Given the description of an element on the screen output the (x, y) to click on. 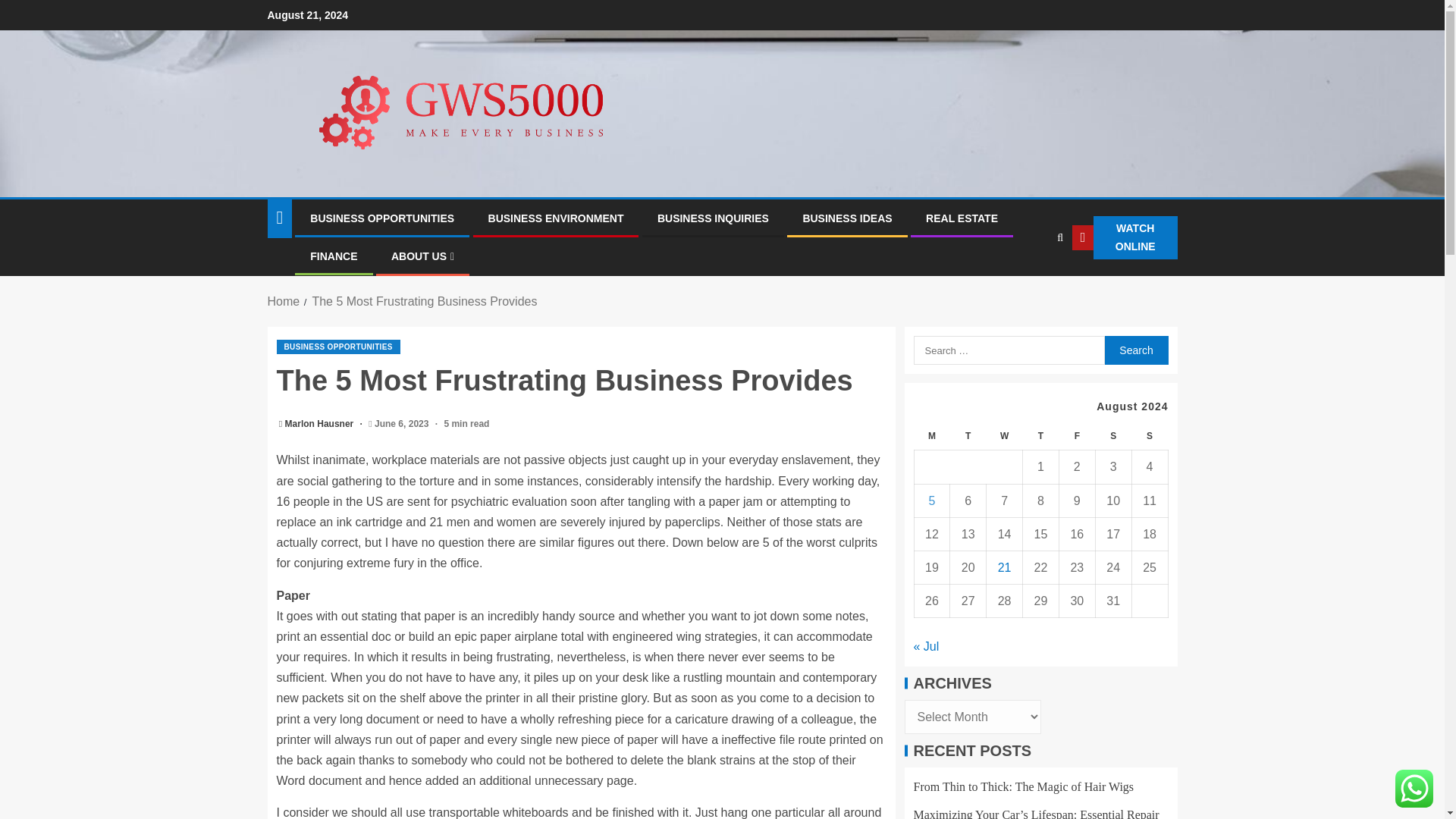
Thursday (1041, 436)
Search (1135, 349)
REAL ESTATE (961, 218)
ABOUT US (422, 256)
WATCH ONLINE (1123, 238)
Search (1135, 349)
Monday (932, 436)
BUSINESS ENVIRONMENT (555, 218)
Search (1029, 284)
BUSINESS IDEAS (846, 218)
